Given the description of an element on the screen output the (x, y) to click on. 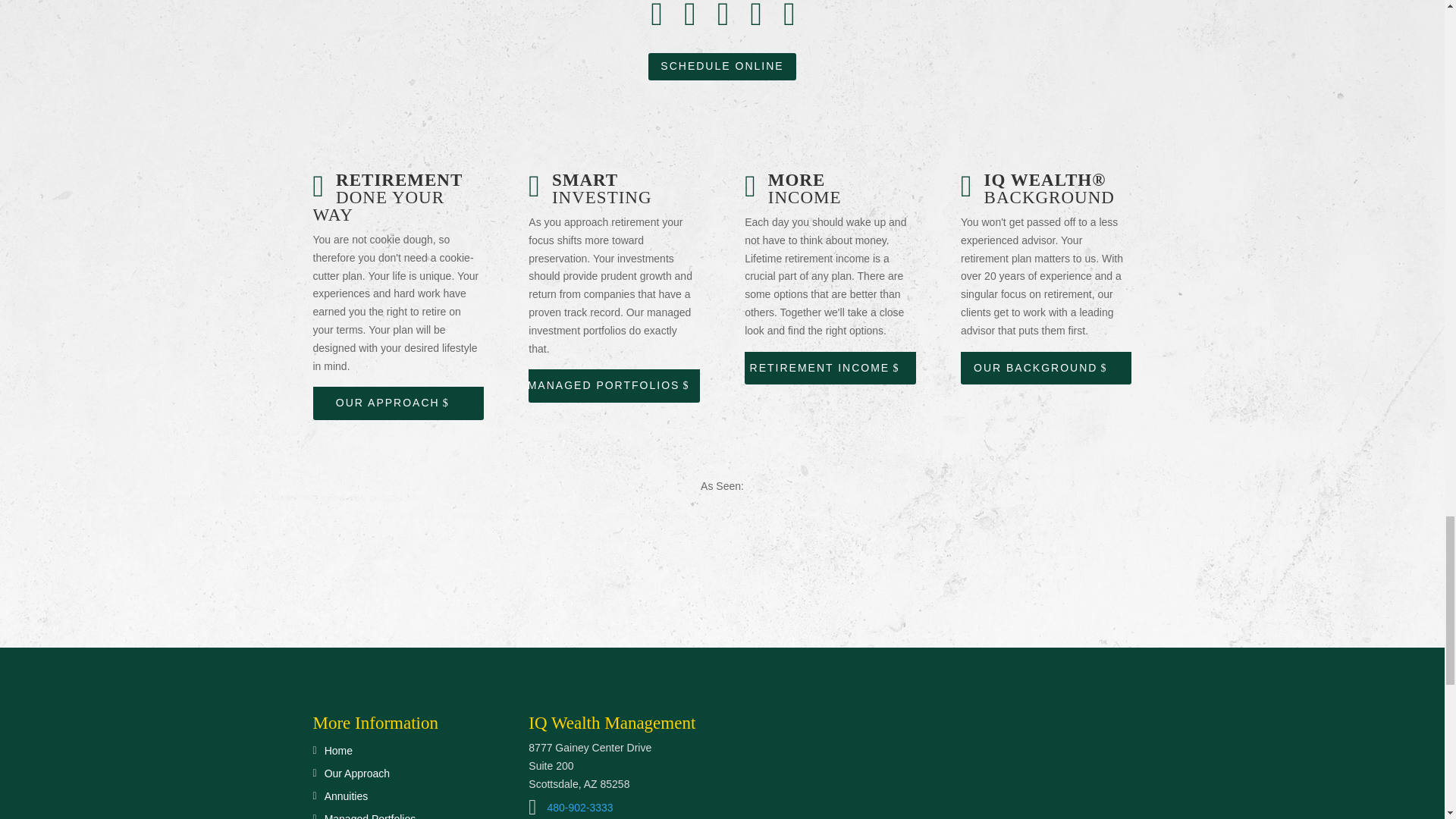
Couple wrapped in blanket take photo (829, 764)
Home (334, 753)
OUR APPROACH (398, 403)
RETIREMENT INCOME (829, 368)
SCHEDULE ONLINE (720, 66)
OUR BACKGROUND (1046, 368)
IQ Logos-Desktop-1 (722, 532)
Our Approach (353, 776)
Annuities (342, 799)
MANAGED PORTFOLIOS (613, 385)
